Given the description of an element on the screen output the (x, y) to click on. 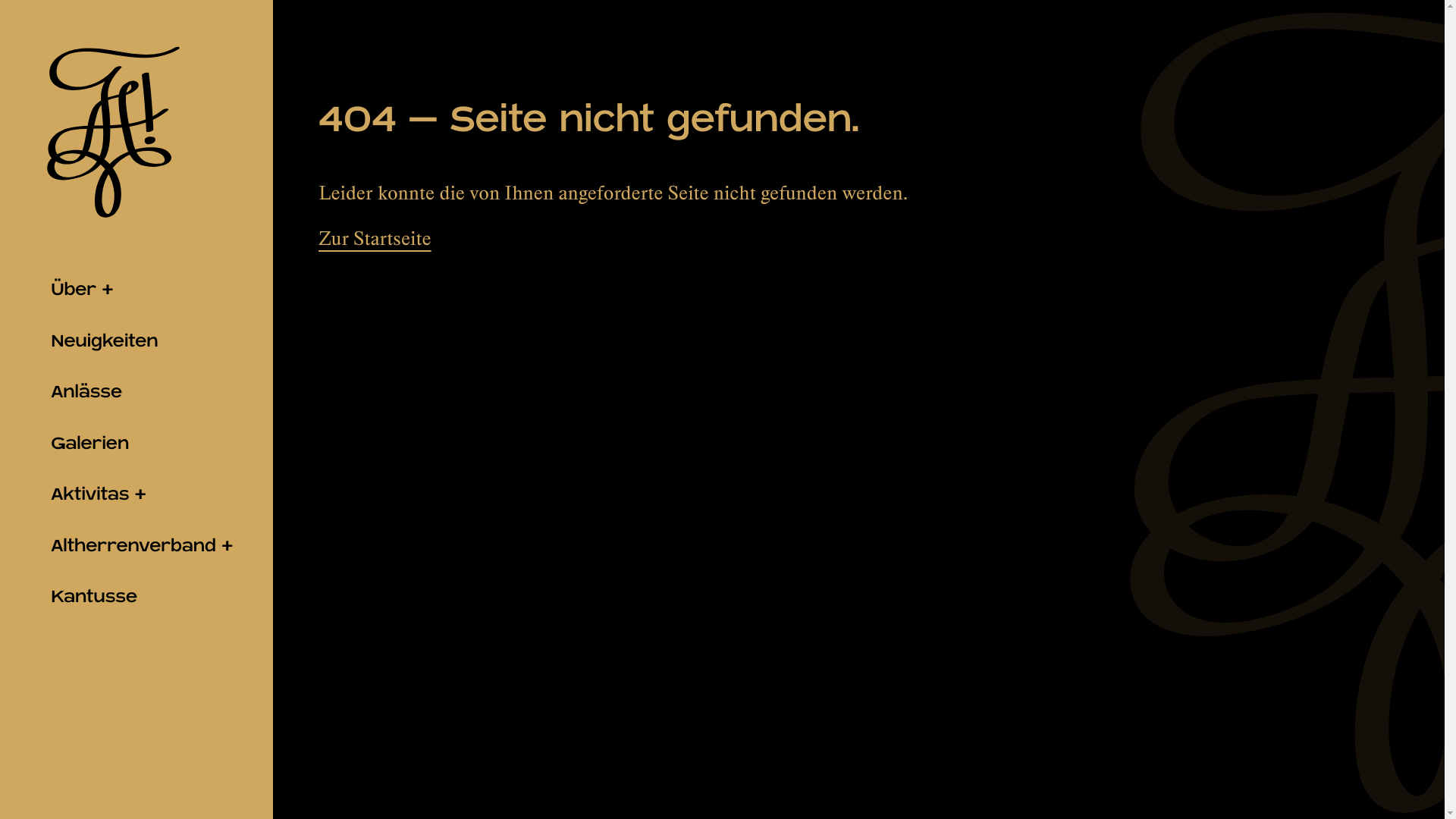
Altherrenverband Element type: text (136, 545)
Kantusse Element type: text (136, 597)
Galerien Element type: text (136, 443)
Neuigkeiten Element type: text (136, 341)
Zur Startseite Element type: text (374, 238)
Aktivitas Element type: text (136, 494)
